Given the description of an element on the screen output the (x, y) to click on. 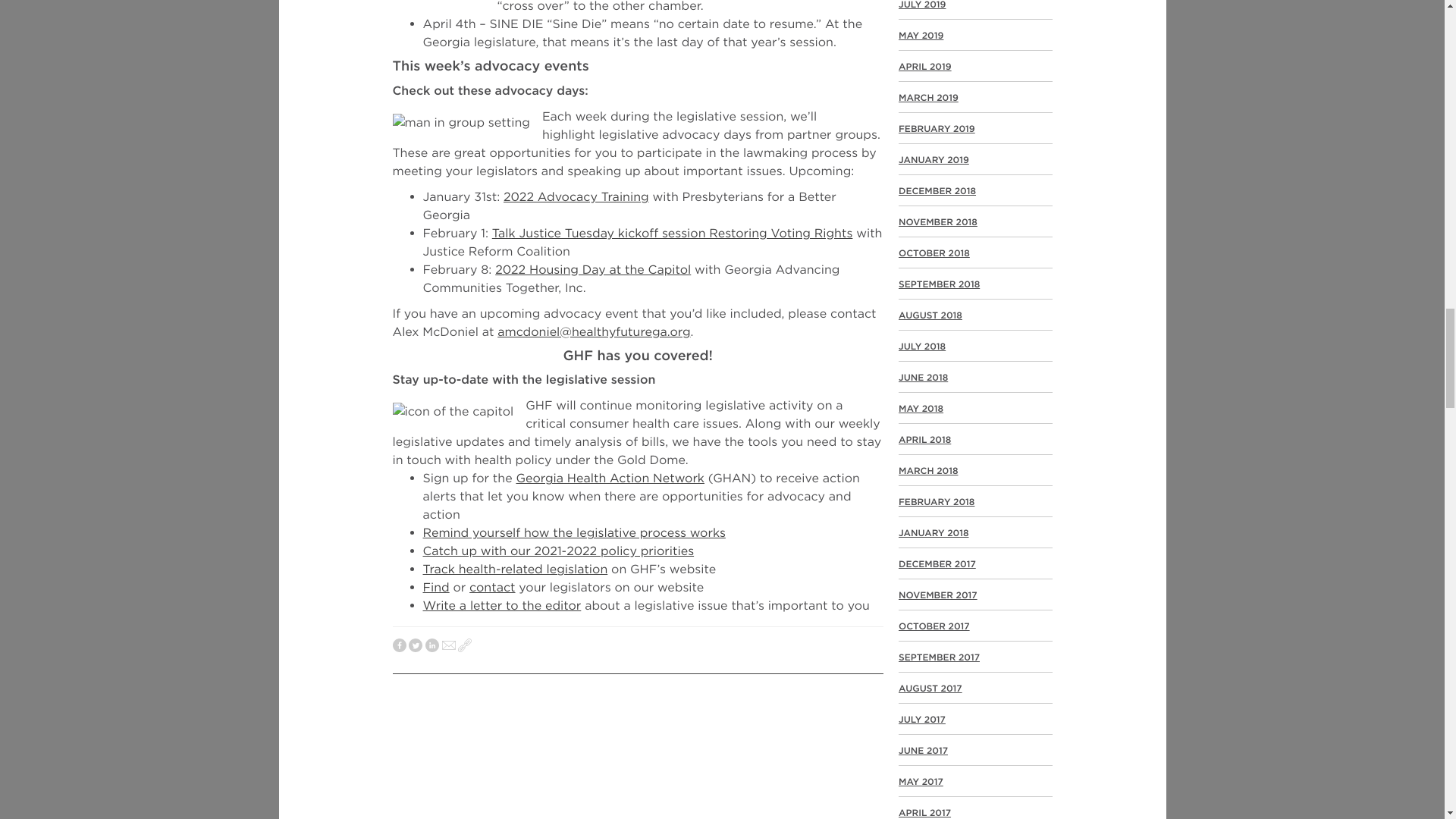
Share on linkedin (432, 645)
Share on email (448, 645)
Share on facebook (399, 645)
Share on link (464, 645)
Share on twitter (415, 645)
